Given the description of an element on the screen output the (x, y) to click on. 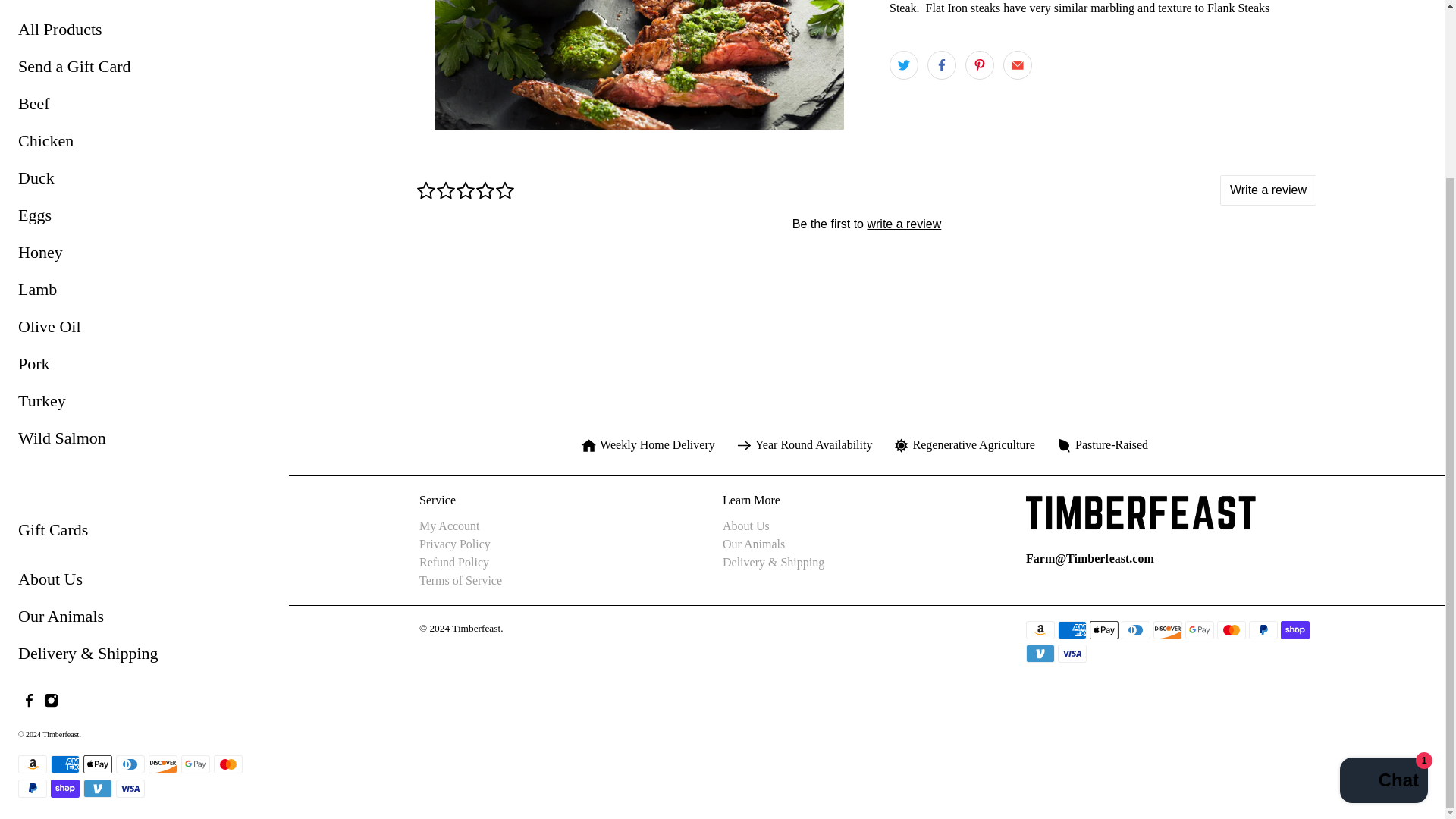
Turkey (143, 406)
American Express (65, 764)
Flat Iron Steaks .50lb (638, 64)
PayPal (31, 788)
Our Animals (143, 621)
Pork (143, 369)
Chicken (143, 146)
Product reviews widget (867, 222)
Gift Cards (143, 535)
All Products (143, 35)
Amazon (31, 764)
Shopify online store chat (1383, 563)
Diners Club (130, 764)
Beef (143, 108)
Visa (130, 788)
